Given the description of an element on the screen output the (x, y) to click on. 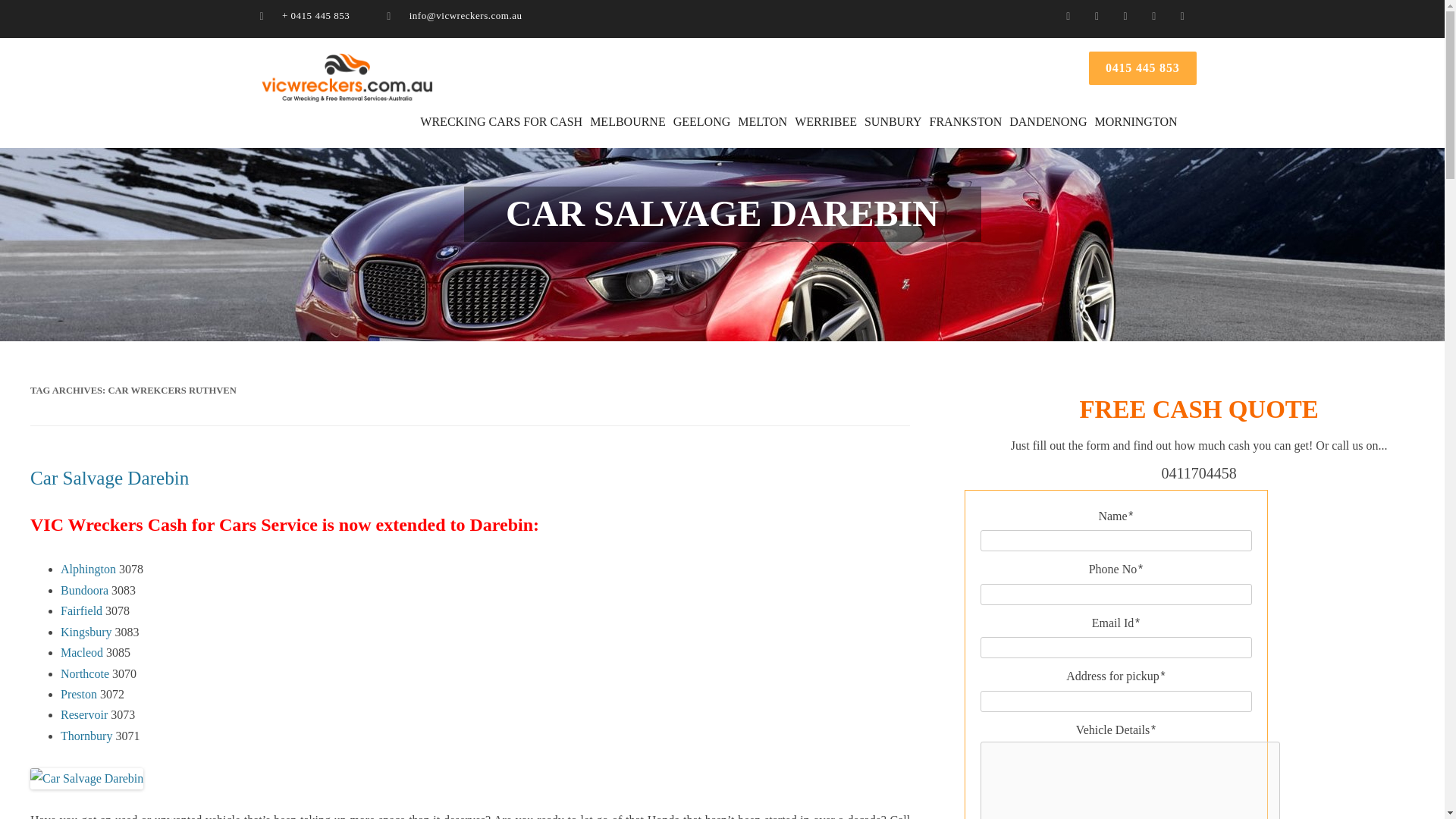
Bundoora, Victoria (84, 590)
Kingsbury, Victoria (86, 631)
Reservoir, Victoria (84, 714)
FRANKSTON (966, 121)
MacLeod, Victoria (82, 652)
Preston, Victoria (79, 694)
Fairfield, Victoria (81, 610)
Alphington (88, 568)
Northcote, Victoria (85, 673)
SUNBURY (892, 121)
Fairfield (81, 610)
MORNINGTON (1134, 121)
GEELONG (701, 121)
Car Salvage Darebin (109, 477)
Thornbury (86, 735)
